Given the description of an element on the screen output the (x, y) to click on. 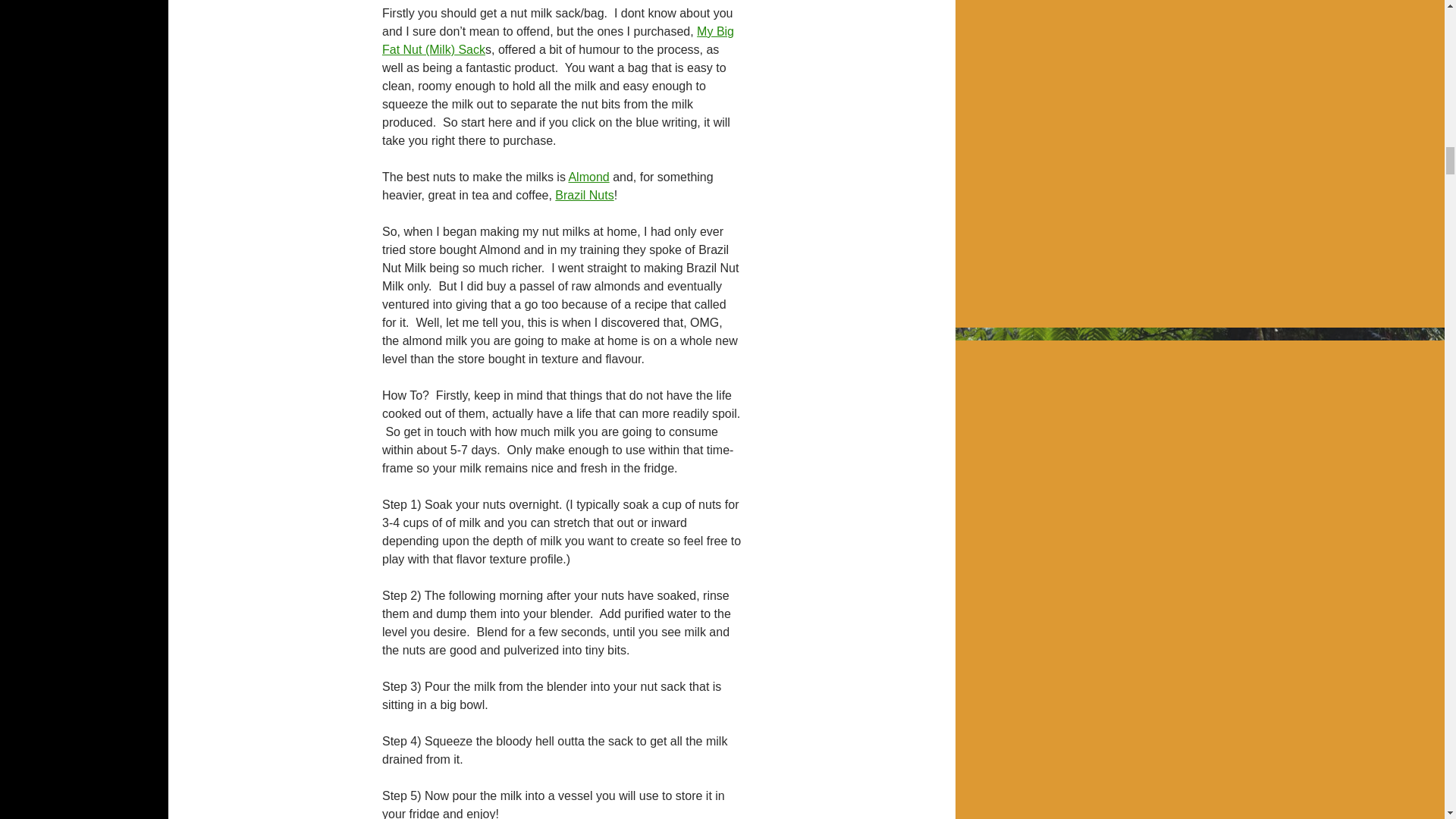
Brazil Nuts (583, 195)
Almond (587, 176)
